Given the description of an element on the screen output the (x, y) to click on. 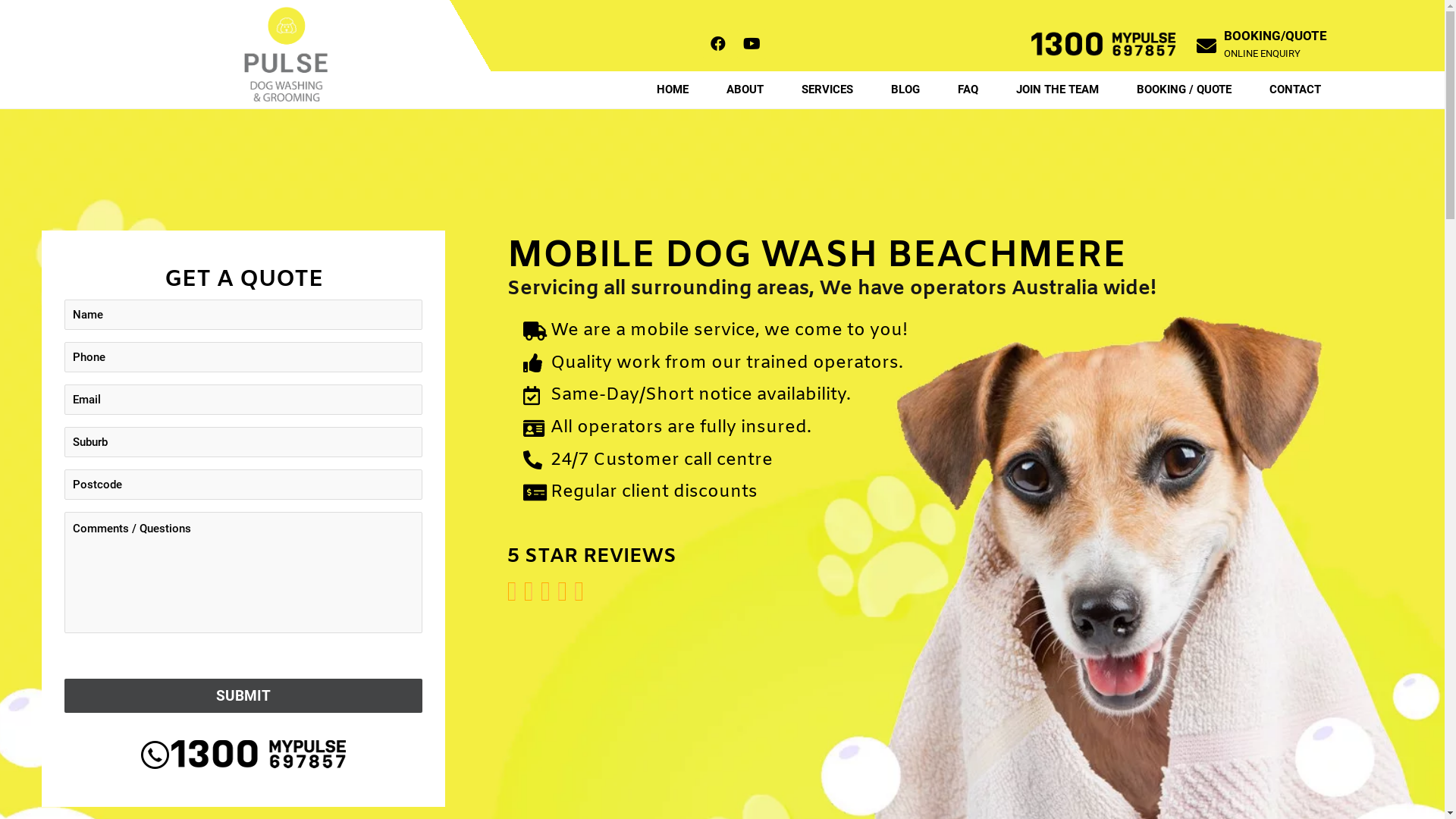
JOIN THE TEAM Element type: text (1057, 89)
BOOKING/QUOTE Element type: text (1275, 35)
FAQ Element type: text (967, 89)
BOOKING / QUOTE Element type: text (1183, 89)
CONTACT Element type: text (1294, 89)
SERVICES Element type: text (827, 89)
Submit Element type: text (243, 695)
HOME Element type: text (672, 89)
BLOG Element type: text (905, 89)
ABOUT Element type: text (744, 89)
